Given the description of an element on the screen output the (x, y) to click on. 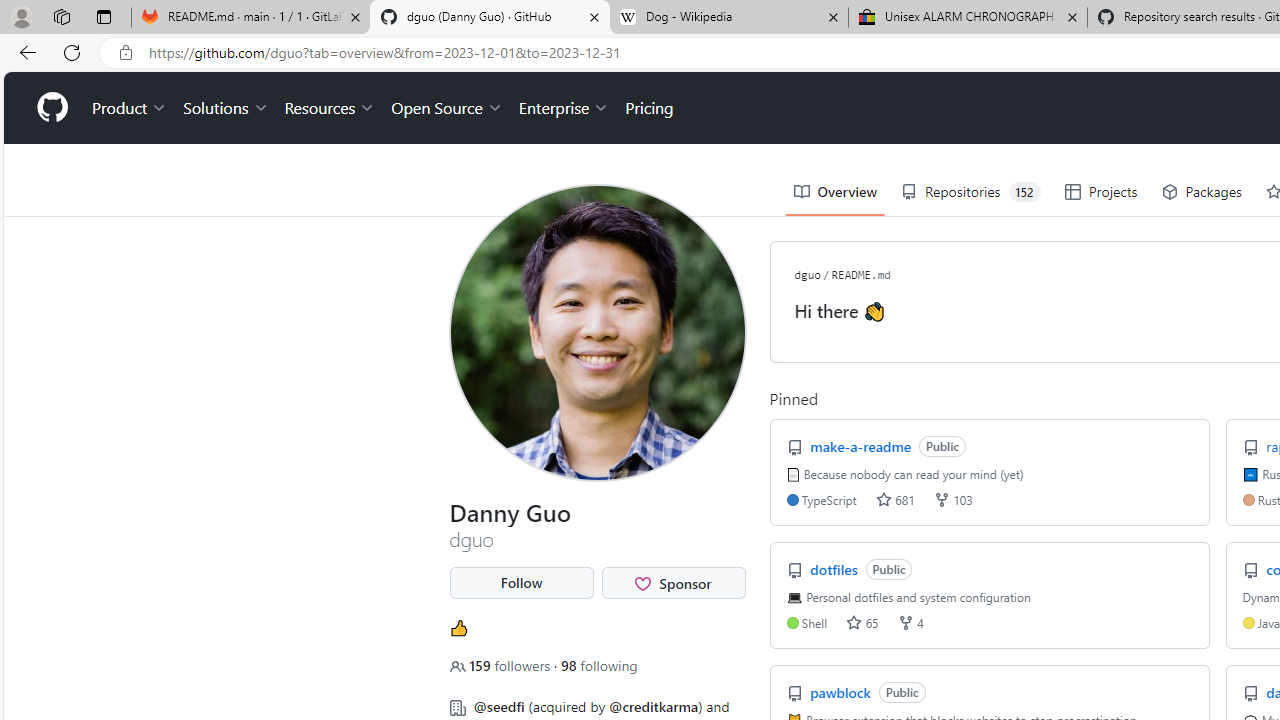
View dguo's full-sized avatar (597, 332)
forks (905, 622)
pawblock (842, 691)
Projects (1100, 192)
forks 103 (952, 499)
Resources (330, 107)
Product (130, 107)
stars 65 (862, 622)
@creditkarma (653, 705)
Dog - Wikipedia (729, 17)
make-a-readme (863, 445)
